Given the description of an element on the screen output the (x, y) to click on. 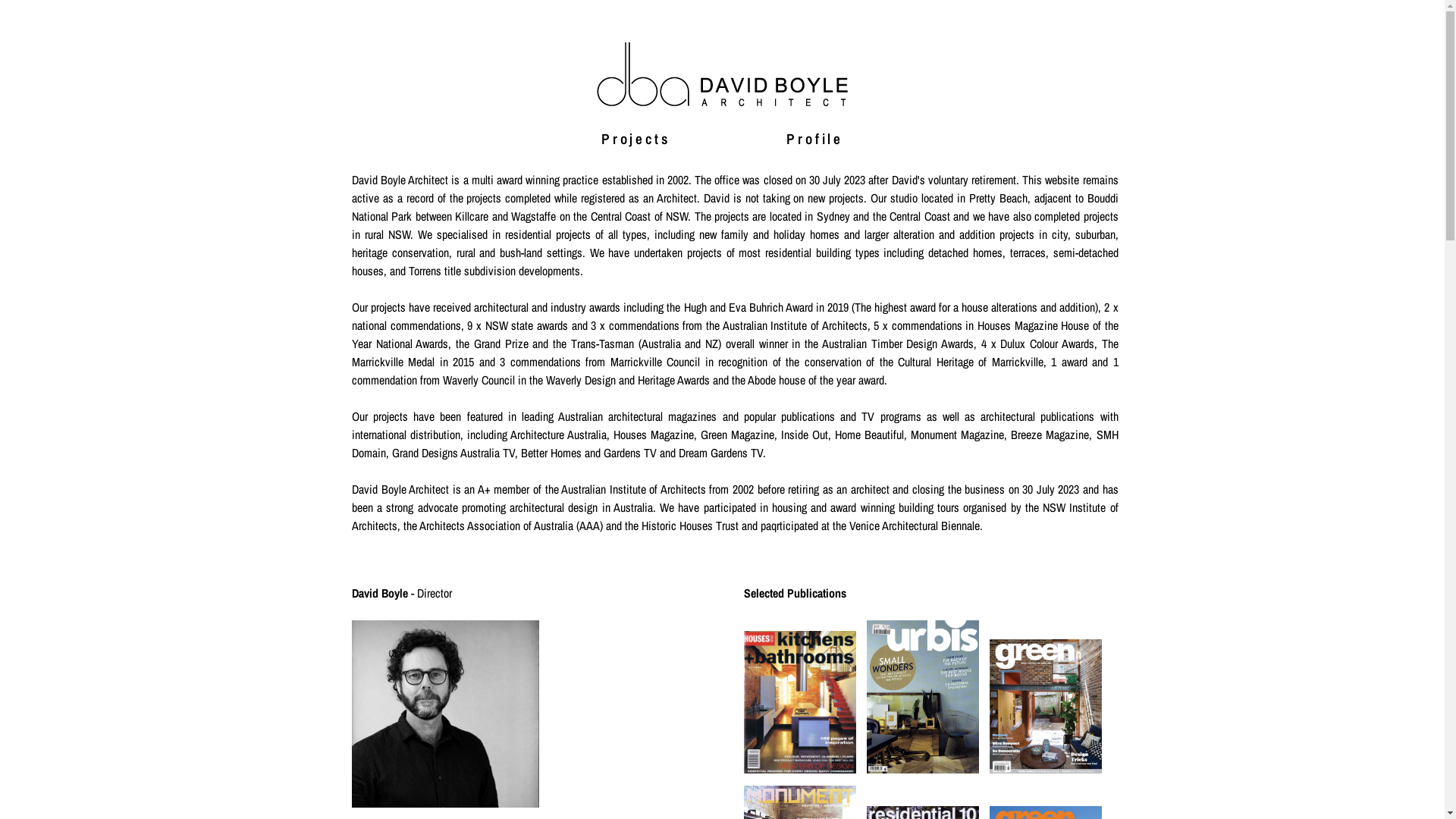
Projects Element type: text (635, 137)
Profile Element type: text (814, 137)
